Given the description of an element on the screen output the (x, y) to click on. 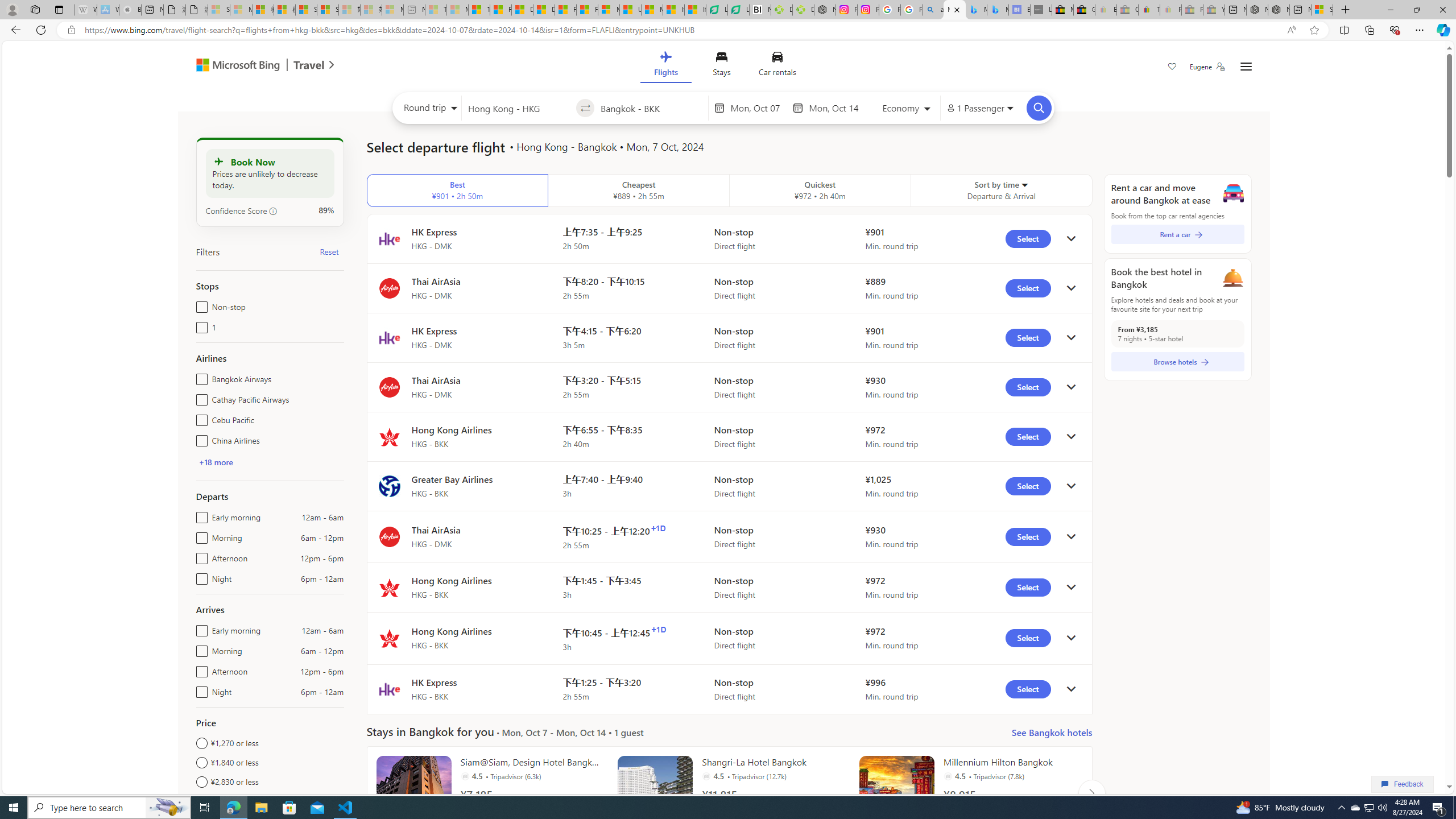
Car rentals (777, 65)
Cebu Pacific (199, 417)
Flight logo (389, 689)
Class: msft-travel-logo (308, 64)
Any price (269, 801)
Class: trvl-hub-header nofilter (723, 65)
